Given the description of an element on the screen output the (x, y) to click on. 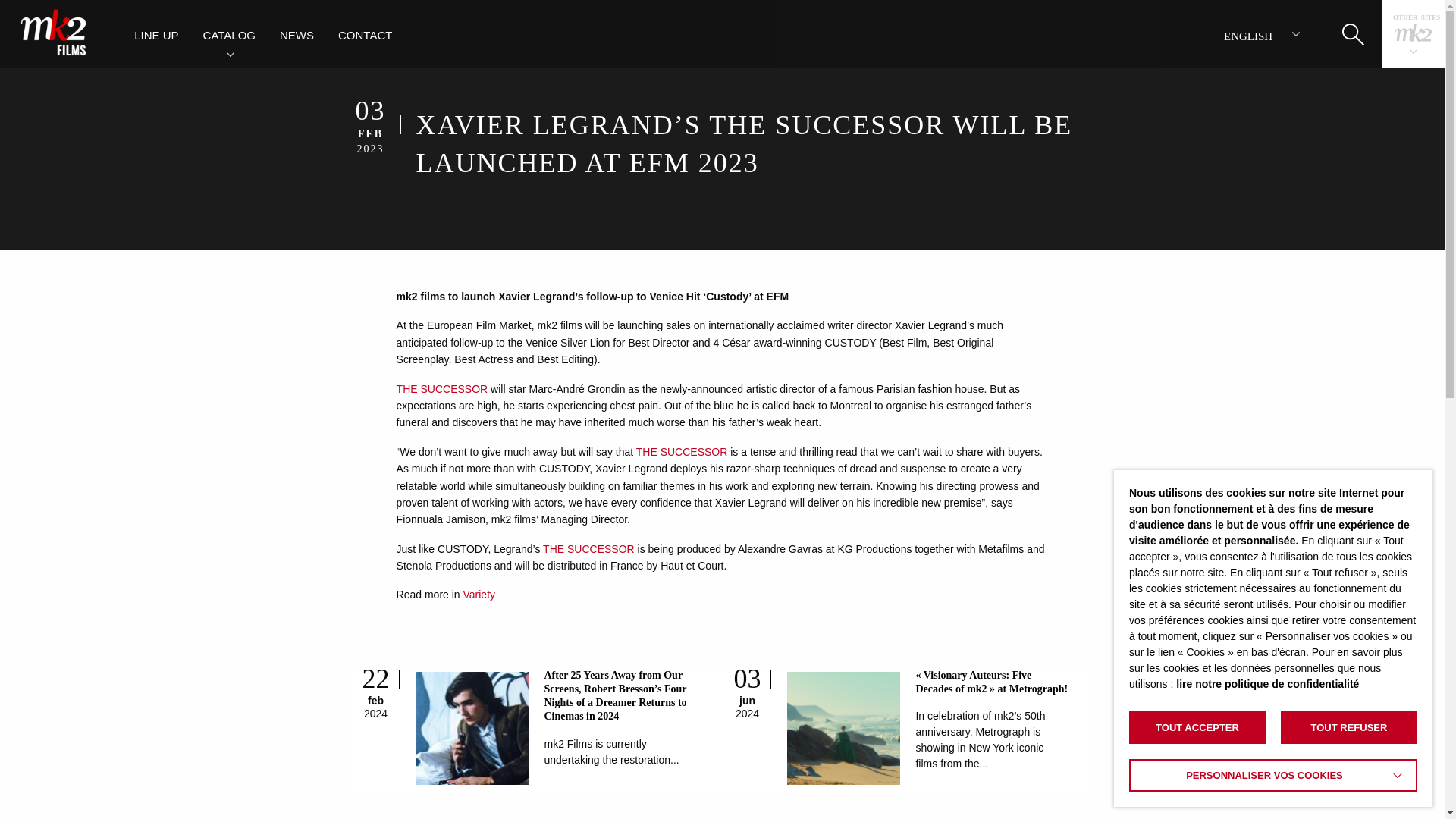
Variety (479, 594)
THE SUCCESSOR (588, 548)
OTHER SITES (1413, 34)
ENGLISH (1260, 33)
THE SUCCESSOR (682, 451)
CONTACT (365, 33)
CATALOG (228, 33)
LINE UP (156, 33)
THE SUCCESSOR (441, 388)
